Given the description of an element on the screen output the (x, y) to click on. 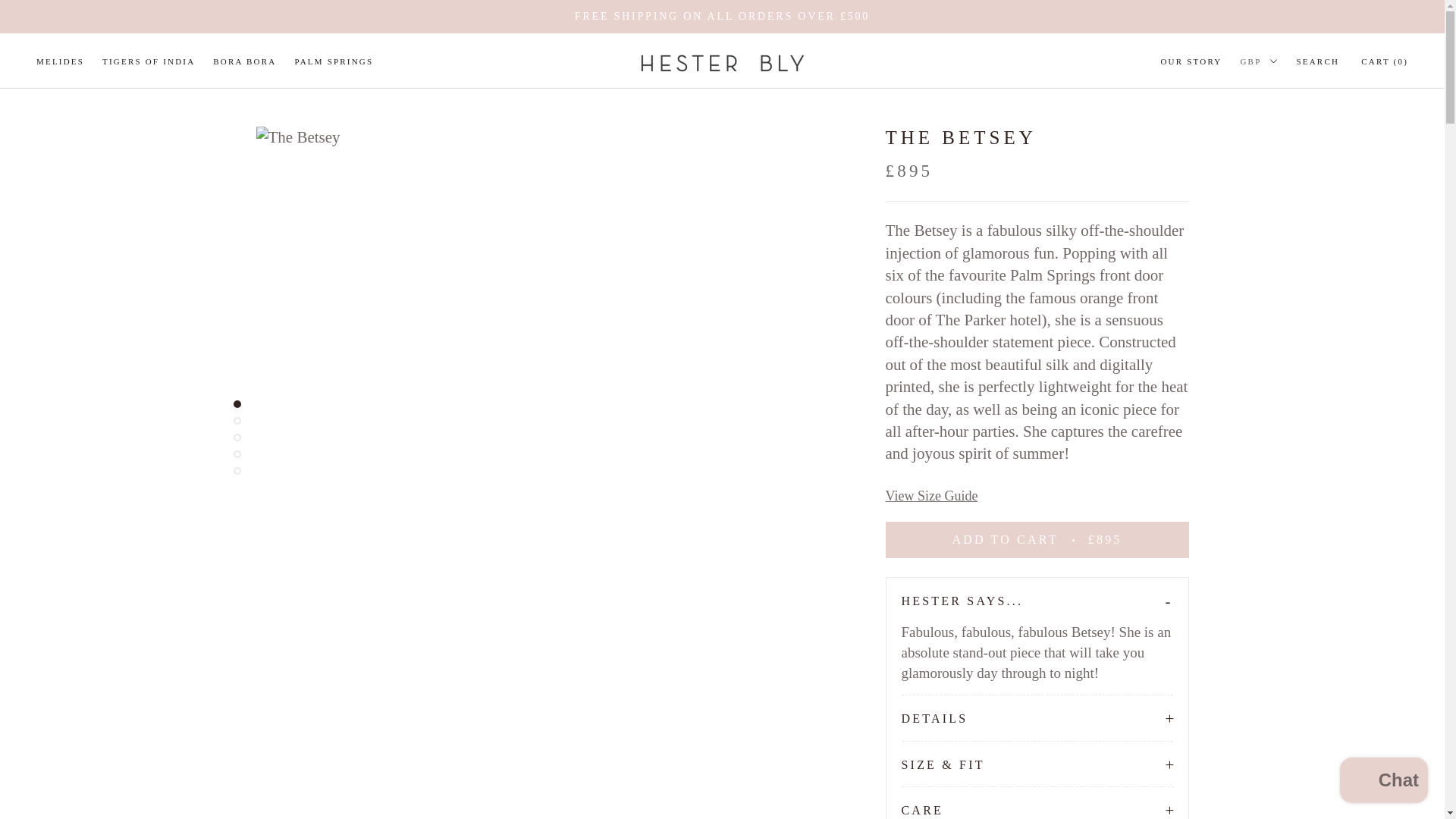
Shopify online store chat (1383, 781)
View Size Guide (931, 495)
Currency selector (1259, 61)
